Given the description of an element on the screen output the (x, y) to click on. 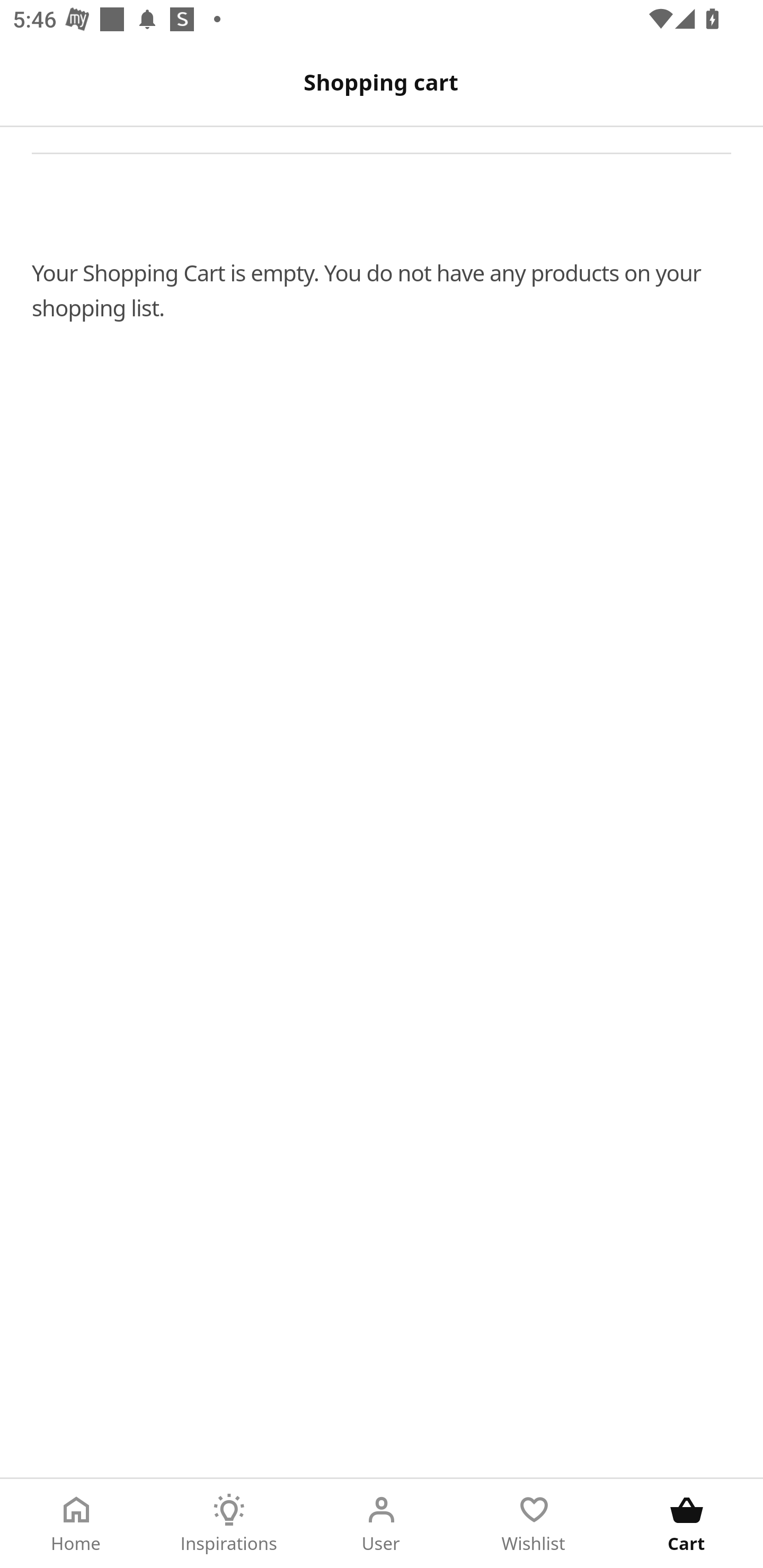
Home
Tab 1 of 5 (76, 1522)
Inspirations
Tab 2 of 5 (228, 1522)
User
Tab 3 of 5 (381, 1522)
Wishlist
Tab 4 of 5 (533, 1522)
Cart
Tab 5 of 5 (686, 1522)
